Given the description of an element on the screen output the (x, y) to click on. 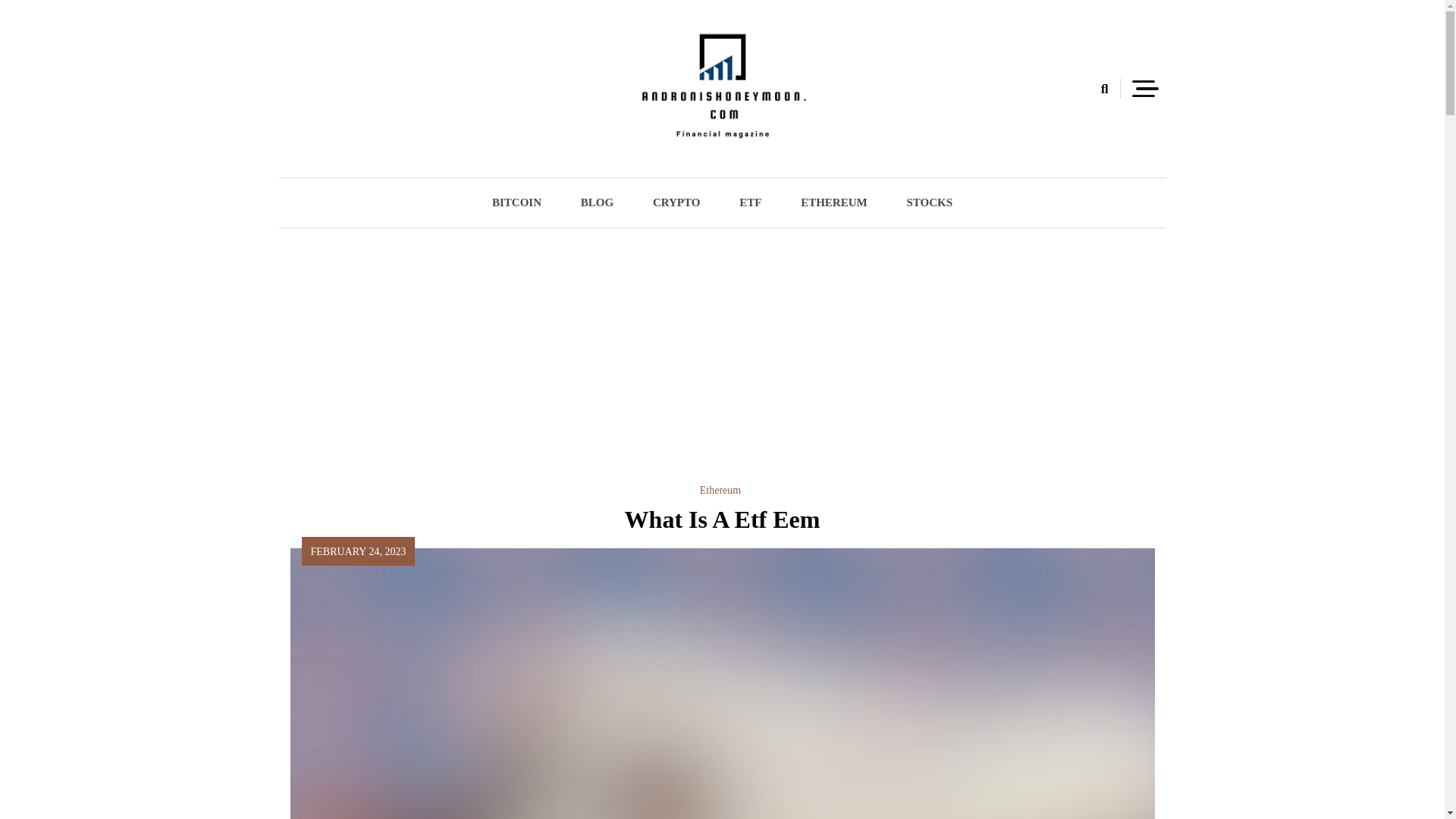
ETF (749, 202)
BITCOIN (516, 202)
STOCKS (929, 202)
BLOG (596, 202)
FEBRUARY 24, 2023 (358, 550)
Ethereum (720, 490)
CRYPTO (676, 202)
ETHEREUM (834, 202)
andronishoneymoon.com (577, 165)
